Given the description of an element on the screen output the (x, y) to click on. 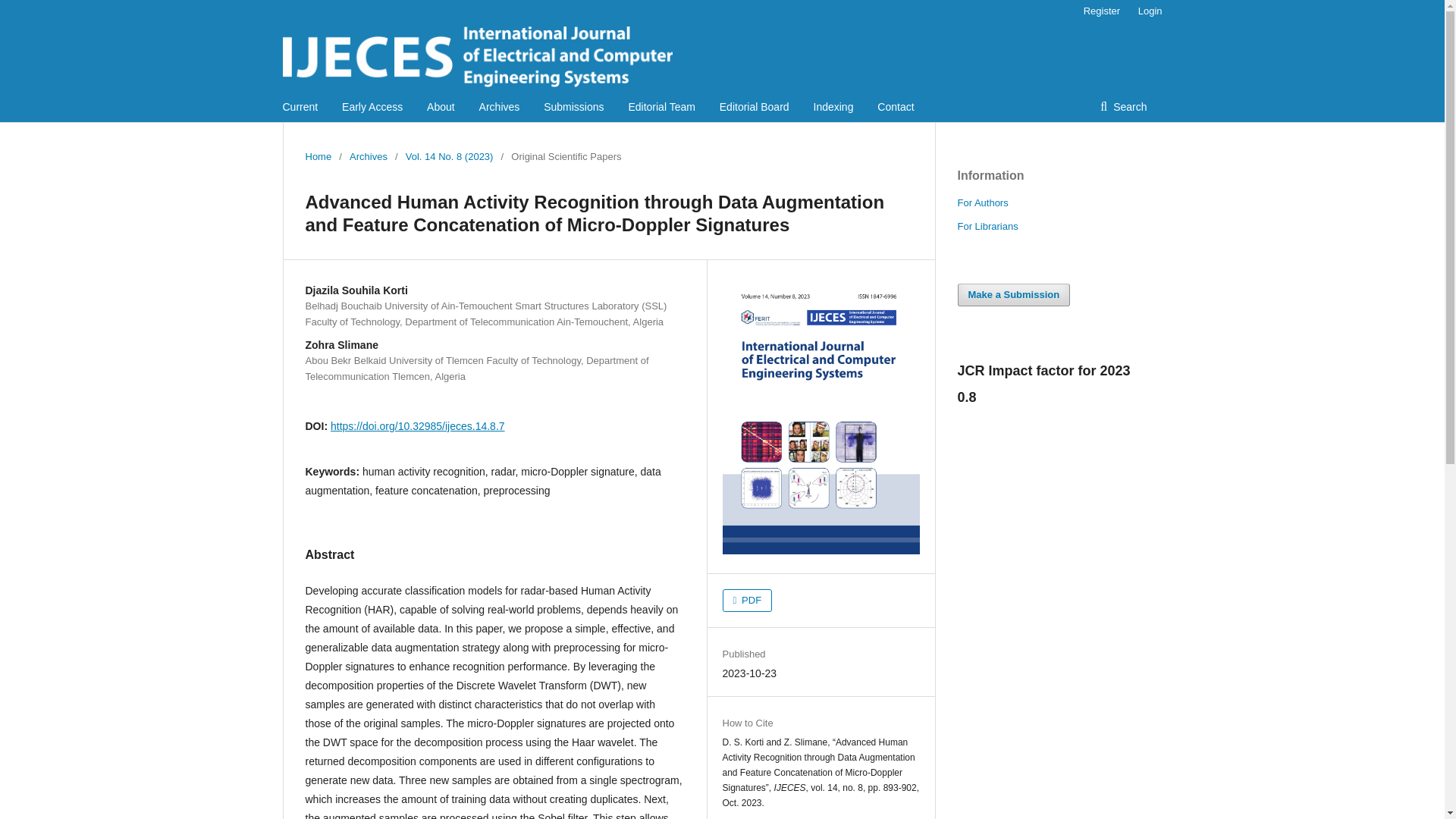
Editorial Team (660, 106)
Archives (368, 156)
PDF (746, 599)
Archives (499, 106)
Editorial Board (754, 106)
Search (1122, 106)
About (440, 106)
Contact (895, 106)
Login (1146, 11)
Early Access (372, 106)
Submissions (573, 106)
Register (1100, 11)
Home (317, 156)
Indexing (832, 106)
Current (299, 106)
